Given the description of an element on the screen output the (x, y) to click on. 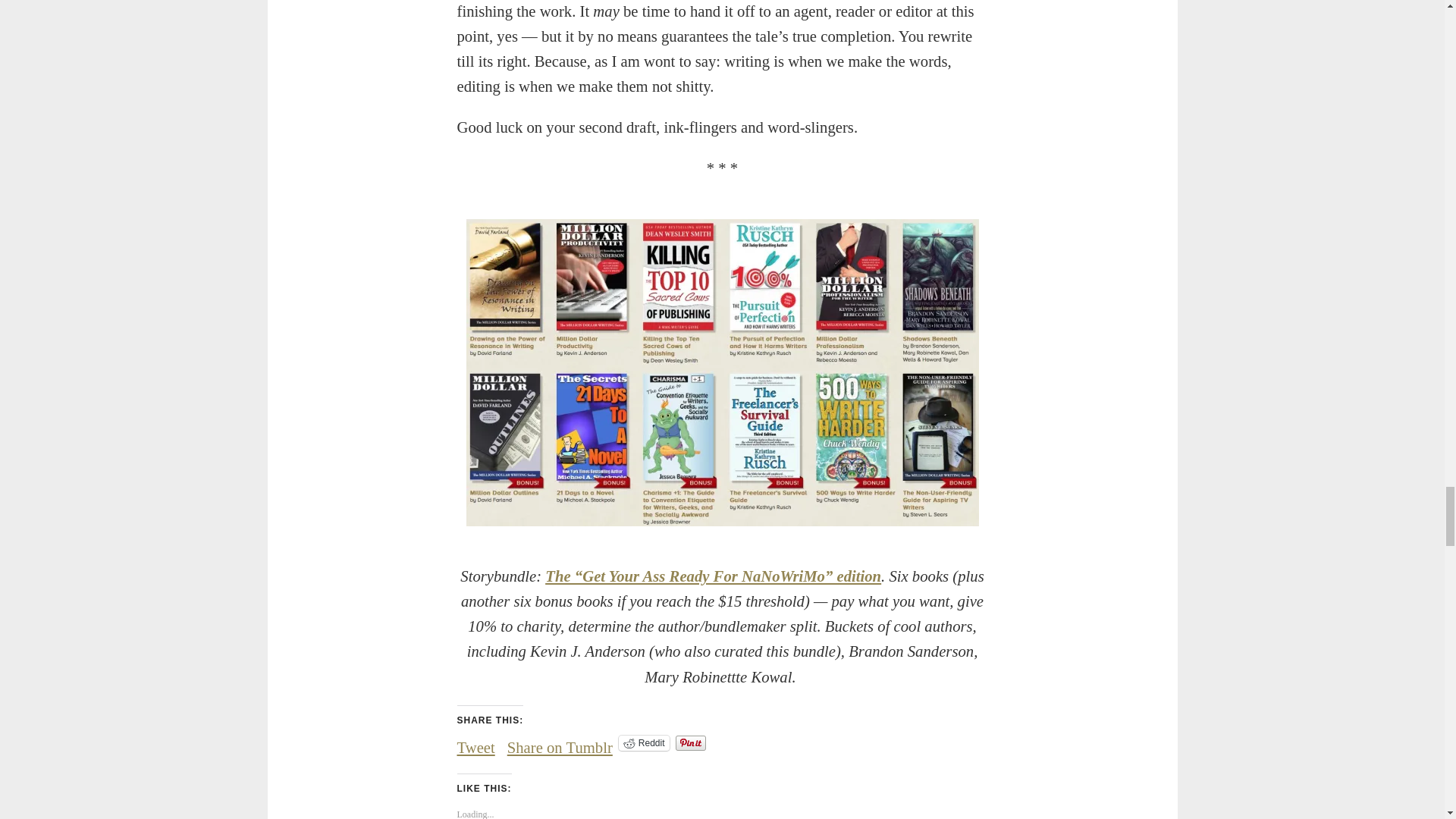
Tweet (476, 742)
Click to share on Reddit (643, 743)
Reddit (643, 743)
Share on Tumblr (559, 742)
Share on Tumblr (559, 742)
